Given the description of an element on the screen output the (x, y) to click on. 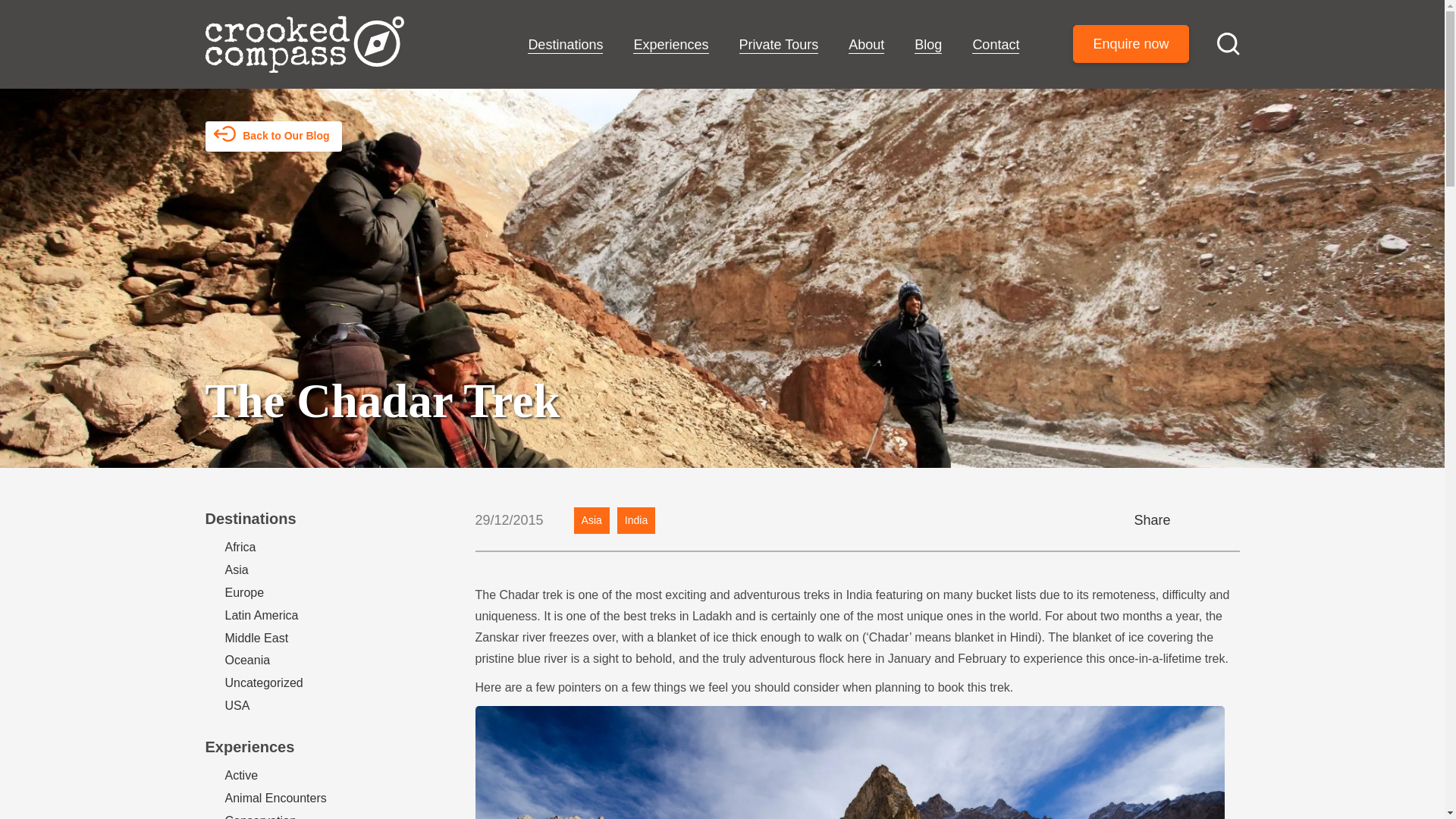
Private Tours (778, 45)
Blog (928, 45)
Experiences (670, 45)
Enquire now (1130, 44)
Destinations (564, 45)
About (865, 45)
Contact (995, 45)
